Given the description of an element on the screen output the (x, y) to click on. 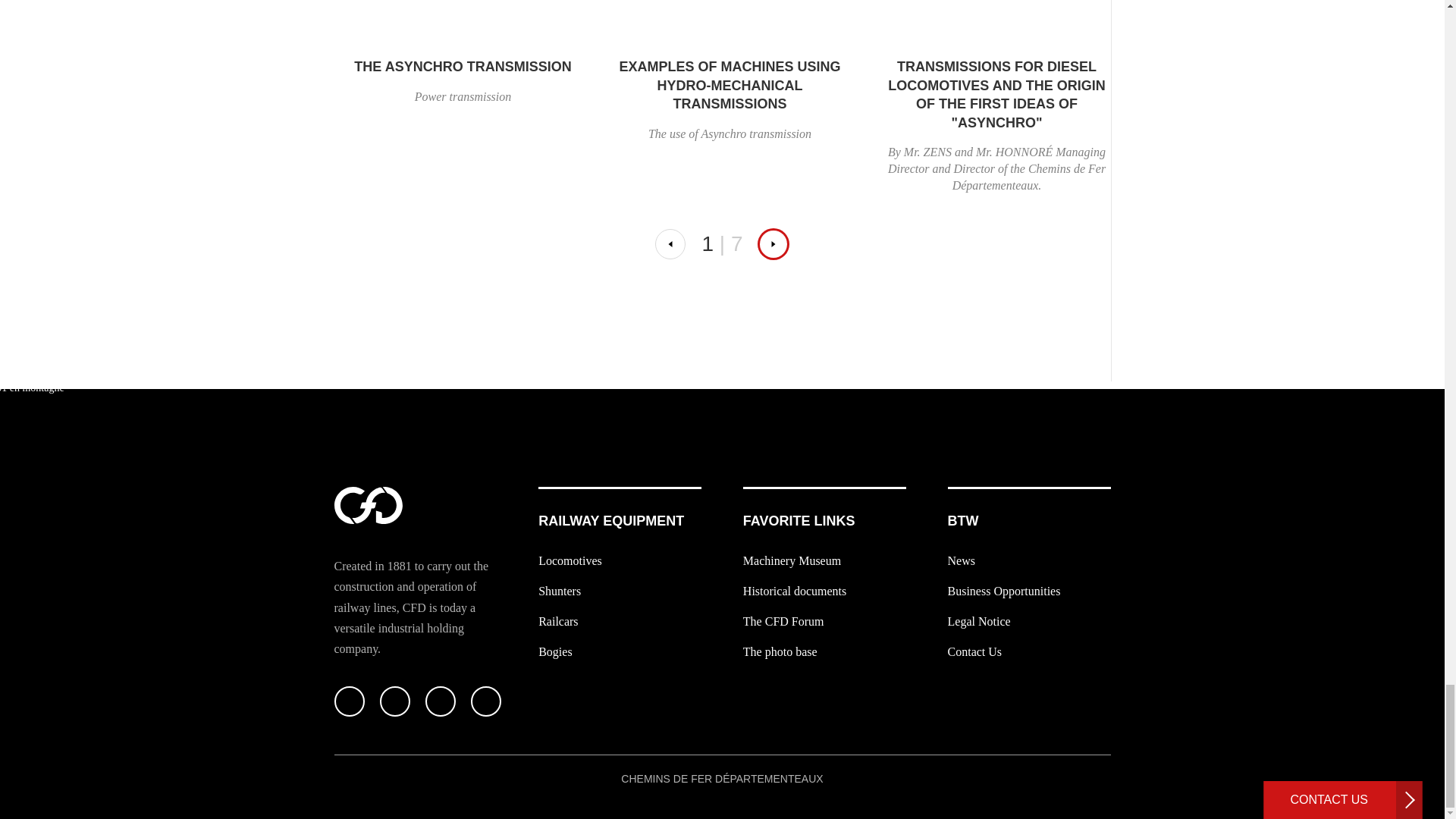
EXAMPLES OF MACHINES USING HYDRO-MECHANICAL TRANSMISSIONS (729, 85)
THE ASYNCHRO TRANSMISSION (462, 66)
